Given the description of an element on the screen output the (x, y) to click on. 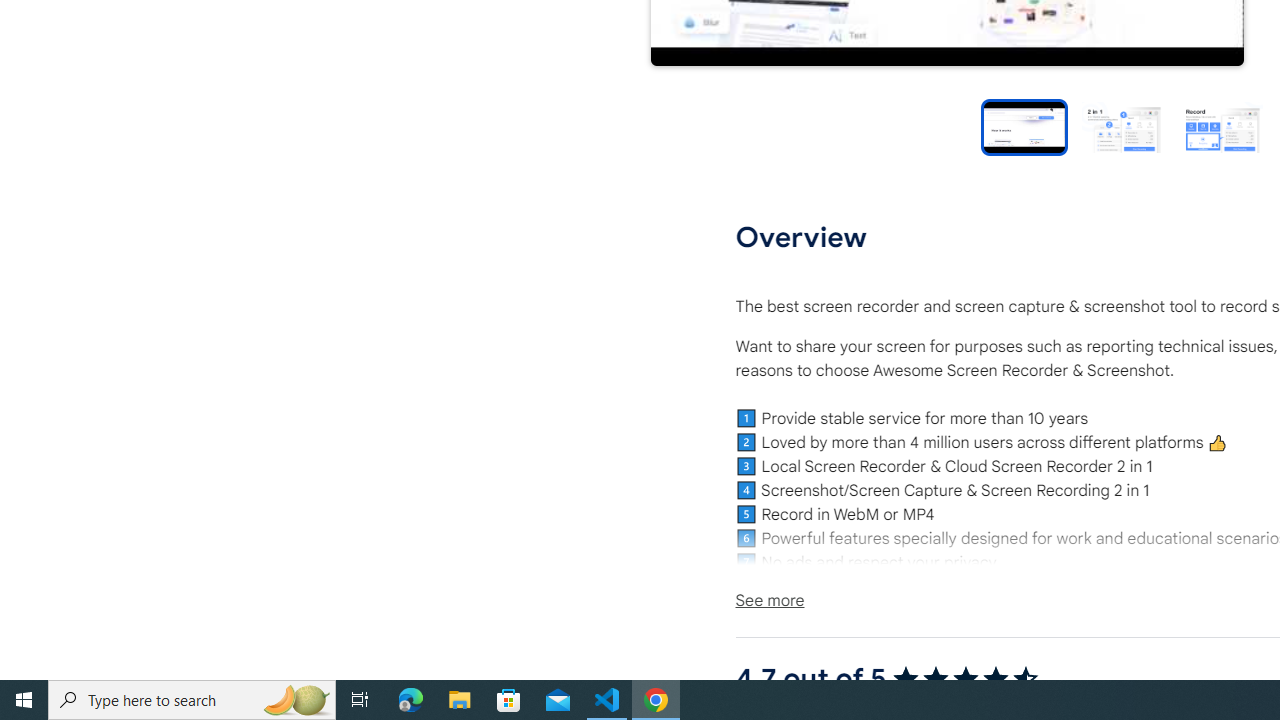
Preview slide 3 (1222, 126)
4.7 out of 5 stars (964, 678)
Item video thumbnail (1024, 126)
Preview slide 1 (1024, 126)
Preview slide 2 (1122, 126)
